Given the description of an element on the screen output the (x, y) to click on. 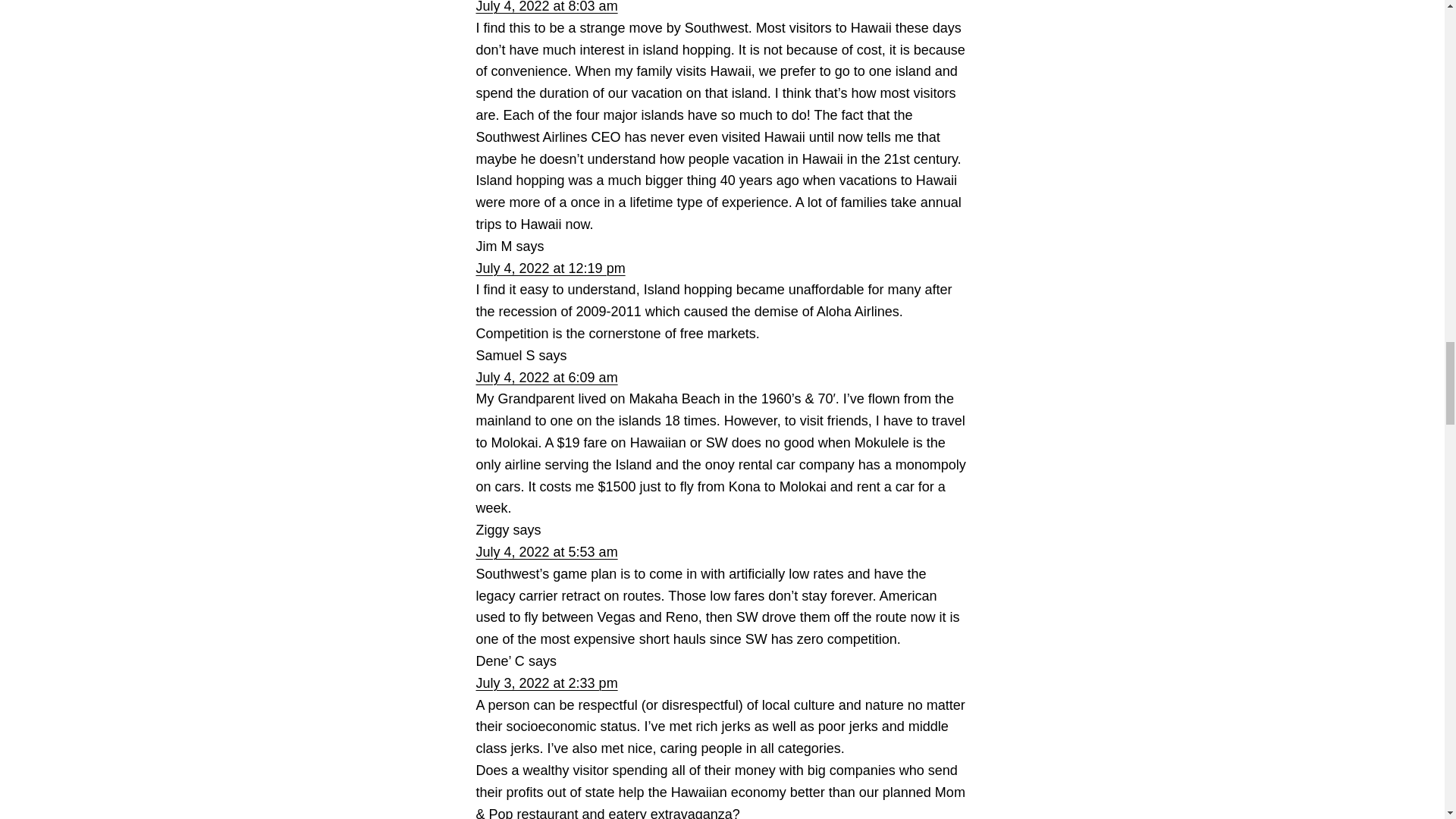
July 4, 2022 at 6:09 am (546, 377)
July 4, 2022 at 12:19 pm (551, 268)
July 4, 2022 at 5:53 am (546, 551)
July 3, 2022 at 2:33 pm (546, 683)
July 4, 2022 at 8:03 am (546, 6)
